Given the description of an element on the screen output the (x, y) to click on. 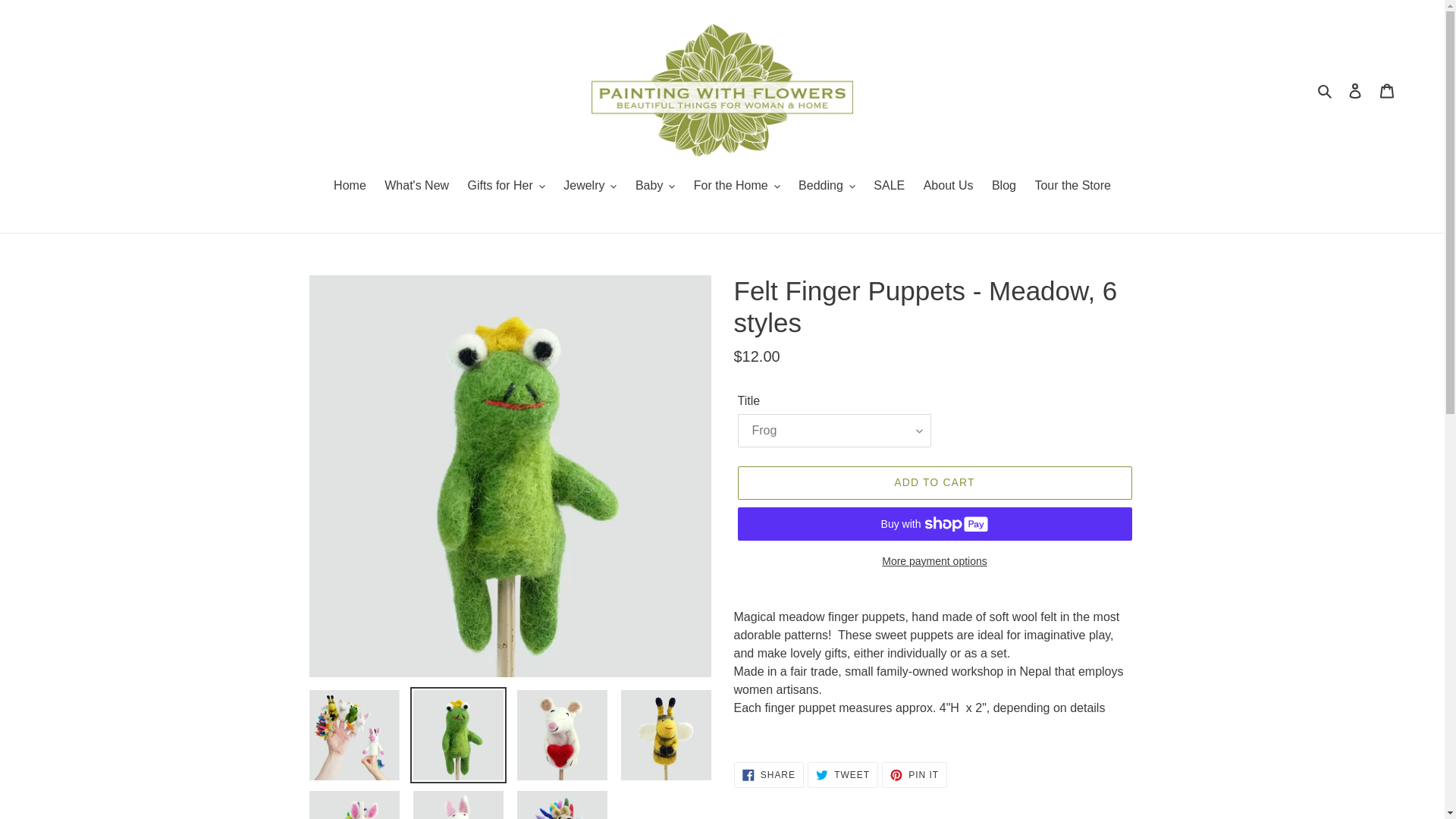
Cart (1387, 90)
Search (1326, 89)
Log in (1355, 90)
